Given the description of an element on the screen output the (x, y) to click on. 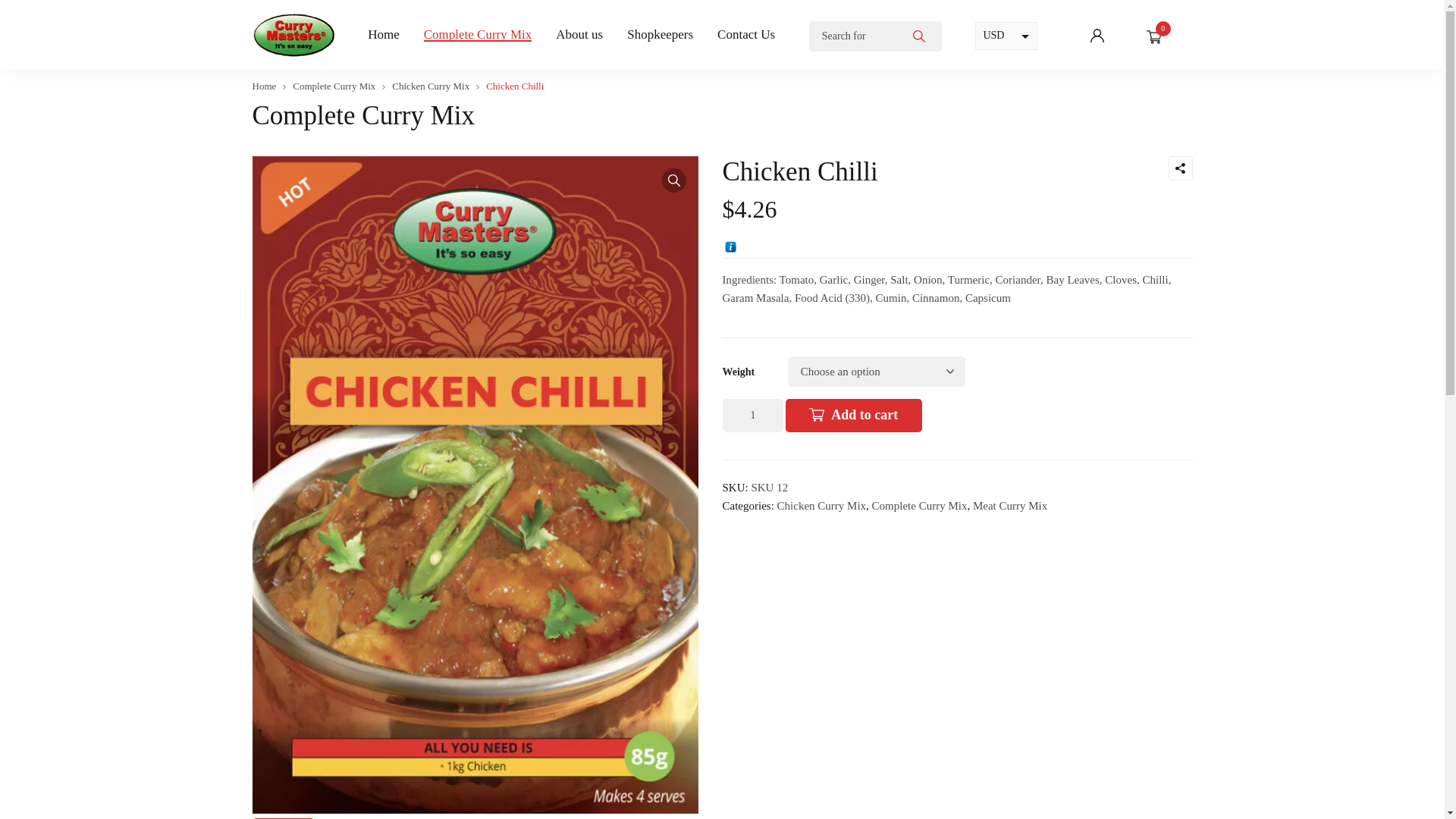
Meat Curry Mix Element type: text (1009, 505)
Complete Curry Mix Element type: text (919, 505)
Log In Element type: text (991, 177)
Search Element type: text (918, 35)
Chicken Curry Mix Element type: text (430, 85)
Home Element type: text (263, 85)
Contact Us Element type: text (746, 34)
Chicken Curry Mix Element type: text (821, 505)
Shopkeepers Element type: text (660, 34)
Complete Curry Mix Element type: text (477, 34)
About us Element type: text (578, 34)
Add to cart Element type: text (853, 415)
Qty Element type: hover (751, 415)
Complete Curry Mix Element type: text (333, 85)
chicken-chilli Element type: hover (474, 484)
Home Element type: text (383, 34)
